Given the description of an element on the screen output the (x, y) to click on. 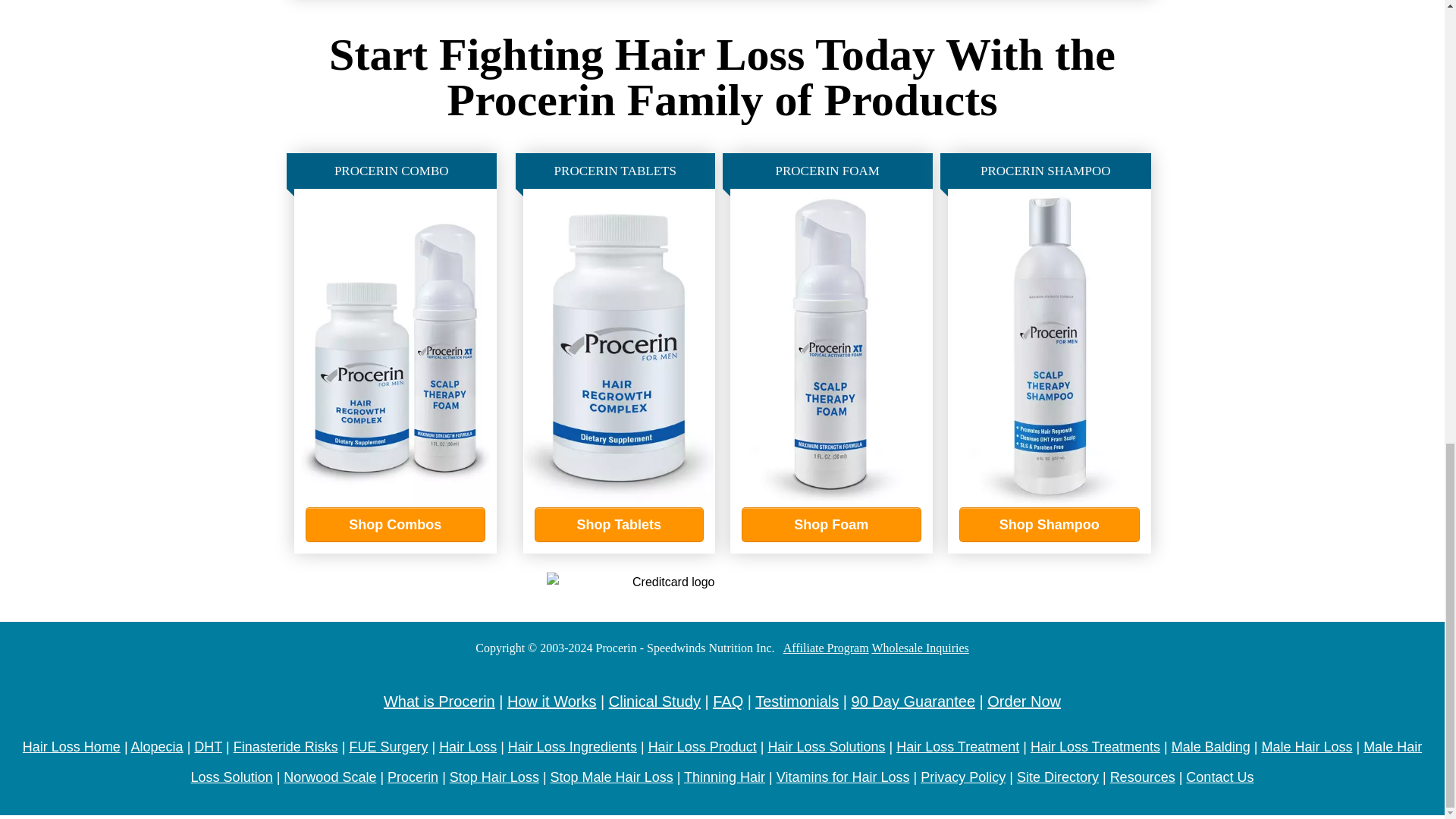
Affiliate Program (826, 647)
FUE-Surgery (388, 746)
How it Works? (550, 701)
Procerin - Male Hair Loss (71, 746)
Testimonial (796, 701)
Finasteride-Risks (284, 746)
Guarantee (913, 701)
Hair-Loss (467, 746)
Alopecia (157, 746)
Clinical Studies (654, 701)
Hair Loss Ingredient (572, 746)
OrderNow (1024, 701)
FAQs (727, 701)
What-is-Procerin (439, 701)
